Given the description of an element on the screen output the (x, y) to click on. 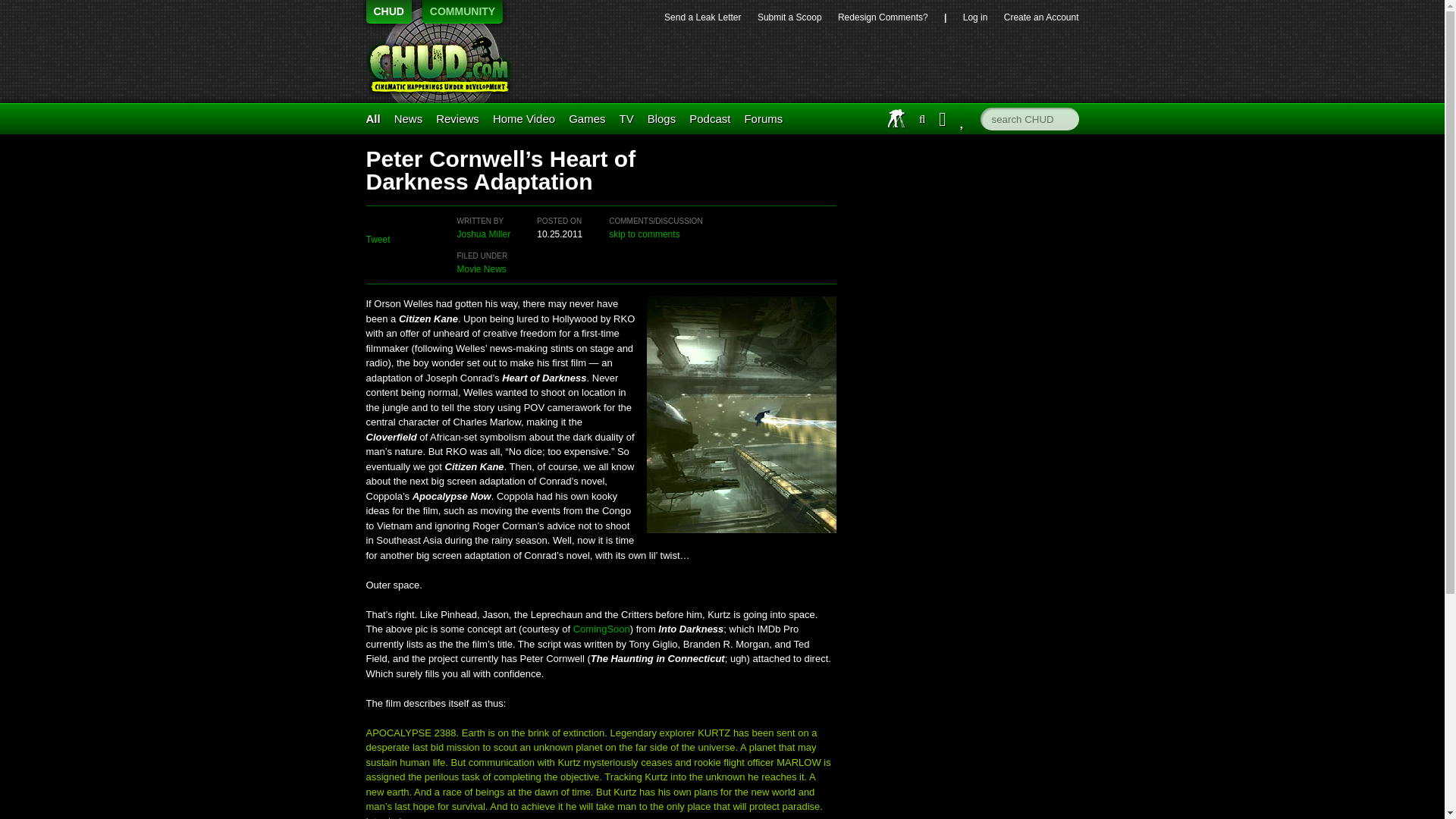
ComingSoon (601, 628)
Home Video (523, 118)
Posts by Joshua Miller (484, 234)
IAFT (896, 117)
All (372, 118)
Joshua Miller (484, 234)
CHUD (445, 63)
International Academy of Film and Television (896, 117)
CHUD (387, 11)
Submit a Scoop (789, 17)
TV (626, 118)
Send a Leak Letter (702, 17)
Master Control Program (587, 118)
skip to comments (643, 234)
COMMUNITY (462, 11)
